Given the description of an element on the screen output the (x, y) to click on. 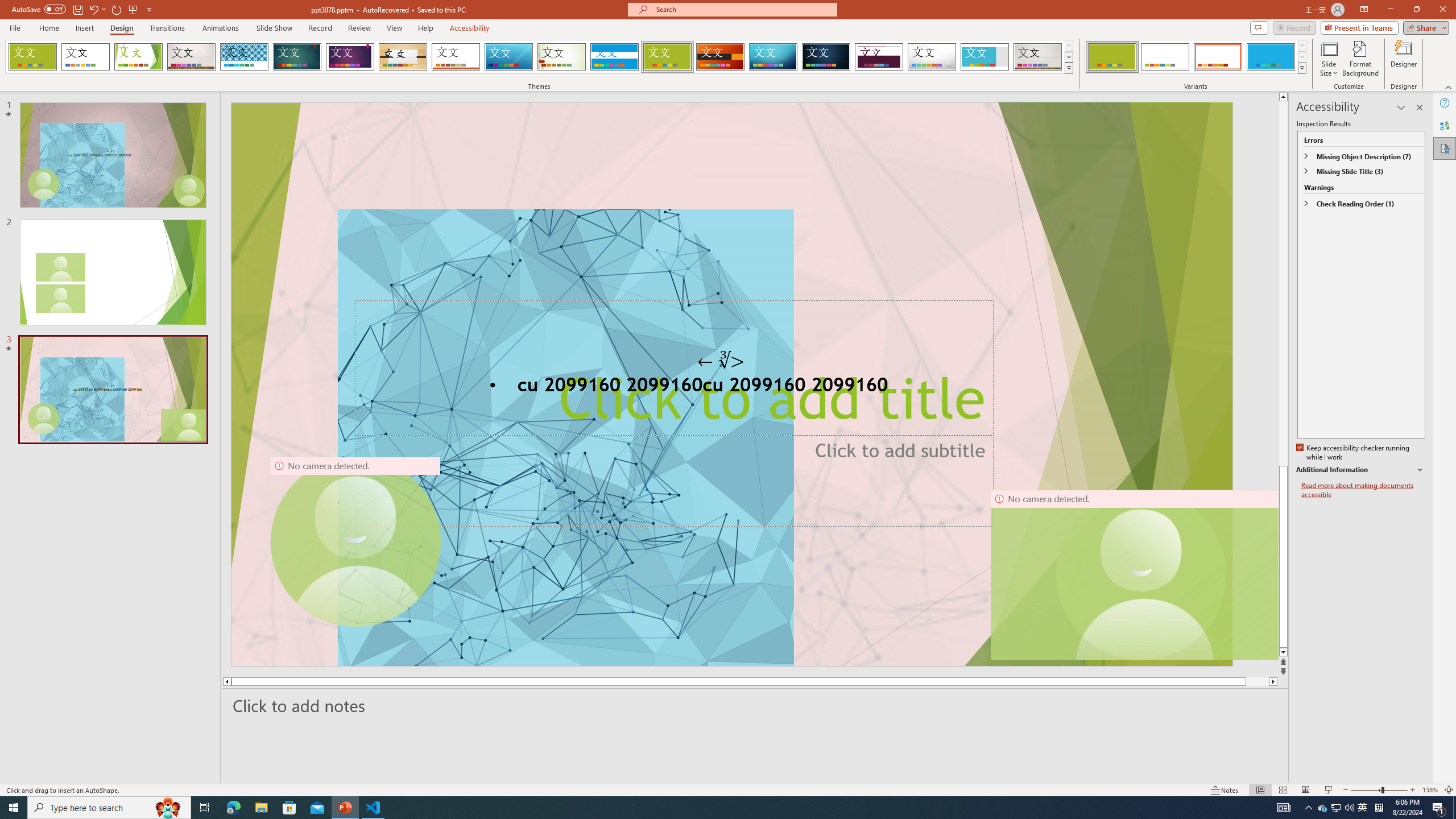
An abstract genetic concept (731, 384)
Frame (984, 56)
Banded (614, 56)
Basis Variant 2 (1164, 56)
Circuit (772, 56)
